Given the description of an element on the screen output the (x, y) to click on. 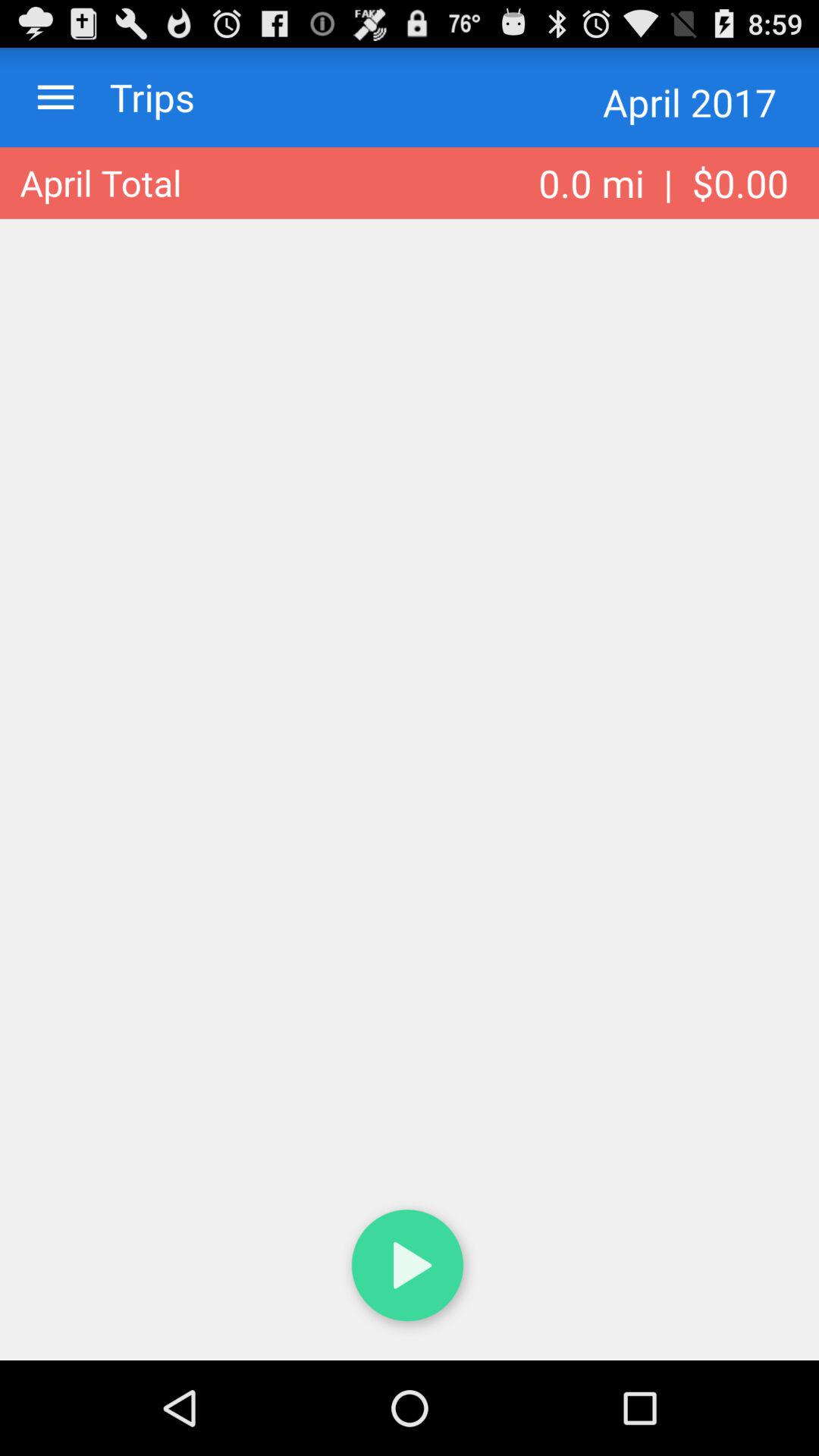
choose icon at the bottom (409, 1268)
